Given the description of an element on the screen output the (x, y) to click on. 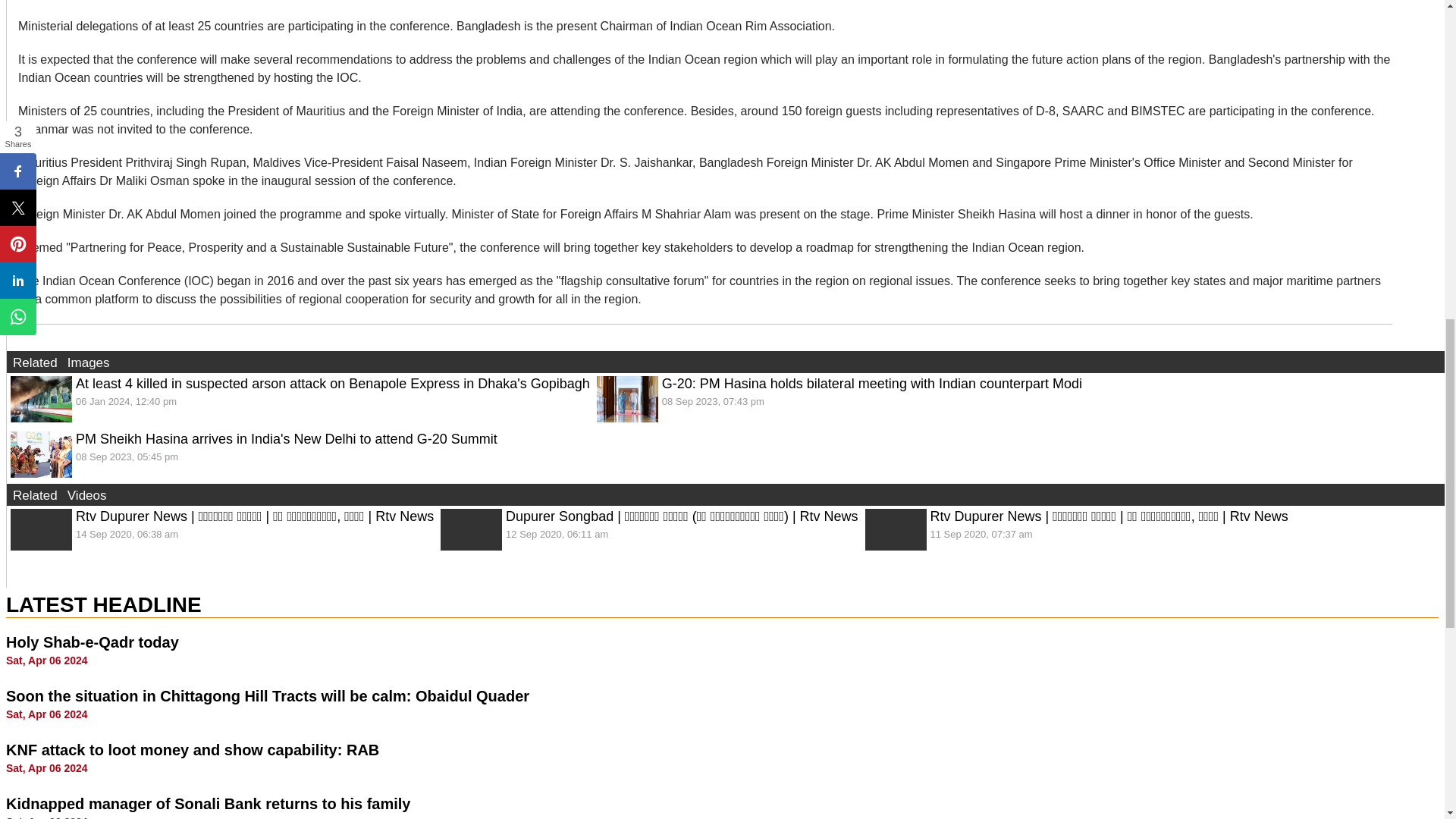
Holy Shab-e-Qadr today (92, 641)
Kidnapped manager of Sonali Bank returns to his family (207, 803)
KNF attack to loot money and show capability: RAB (191, 750)
